Given the description of an element on the screen output the (x, y) to click on. 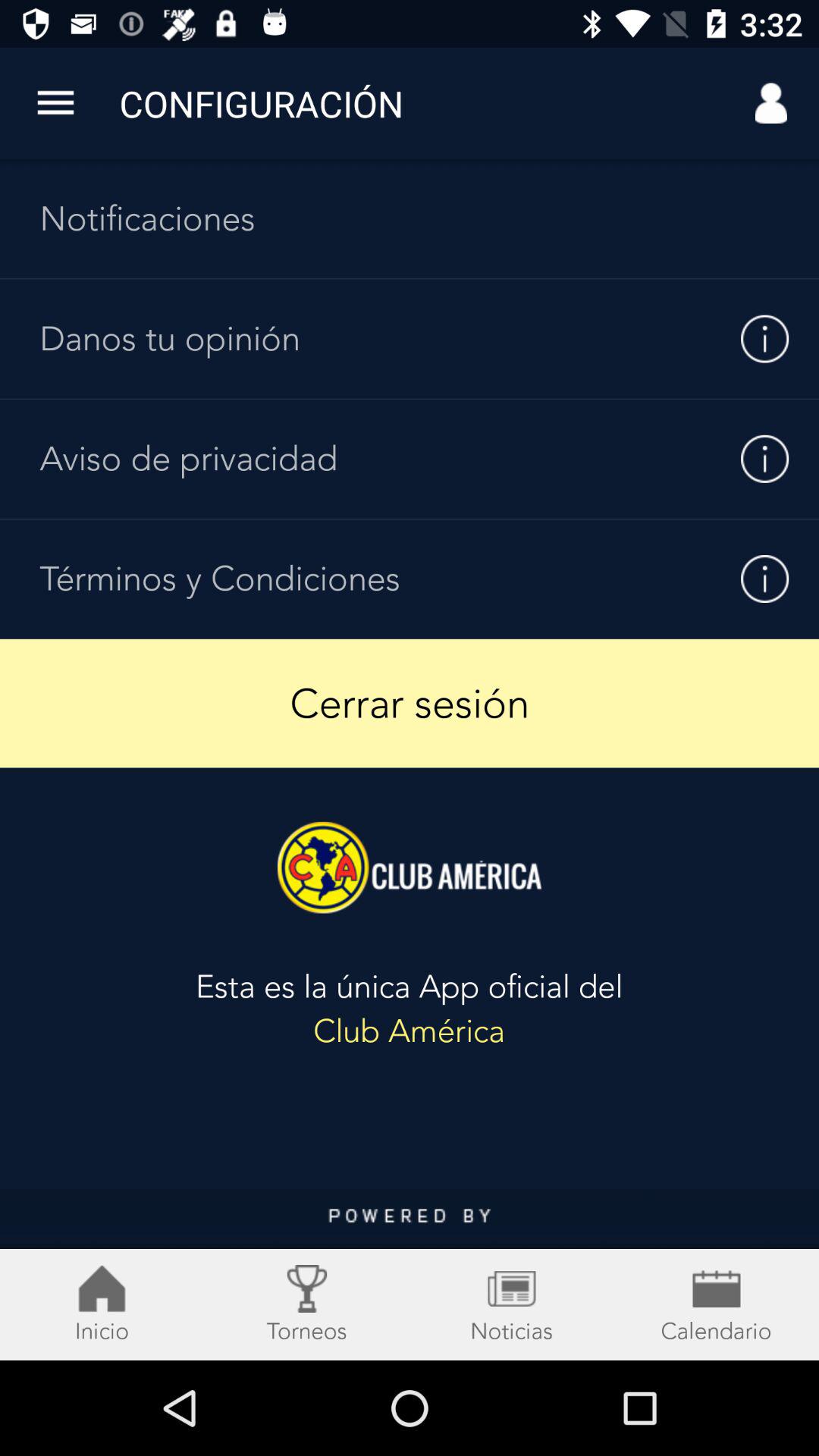
navigate the app (409, 1274)
